Given the description of an element on the screen output the (x, y) to click on. 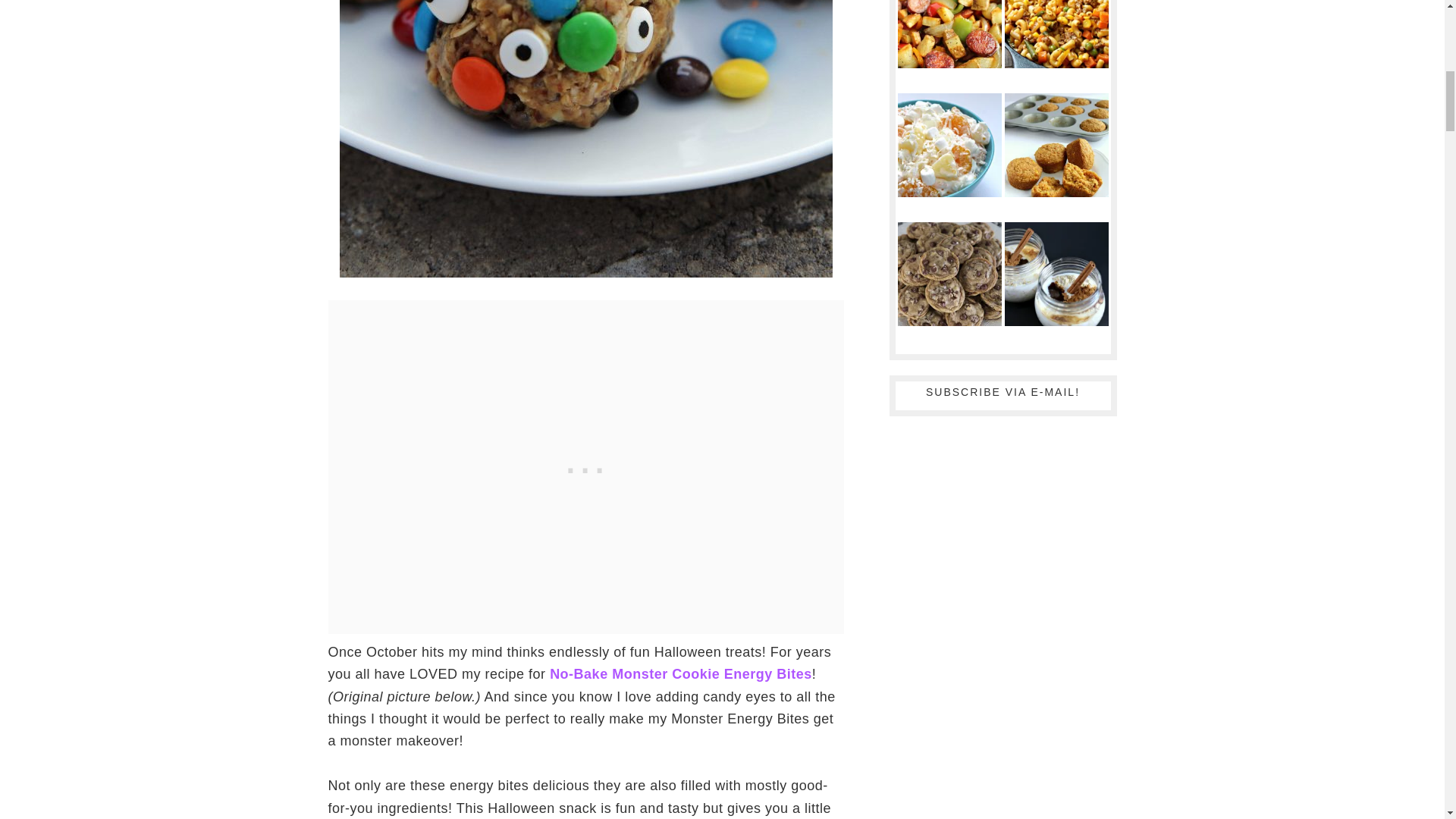
Skillet Cheesy Beef and Veggie Macaroni (1056, 45)
No-Bake Monster Cookie Energy Bites (681, 673)
Smoked Sausage Hash (949, 45)
